Given the description of an element on the screen output the (x, y) to click on. 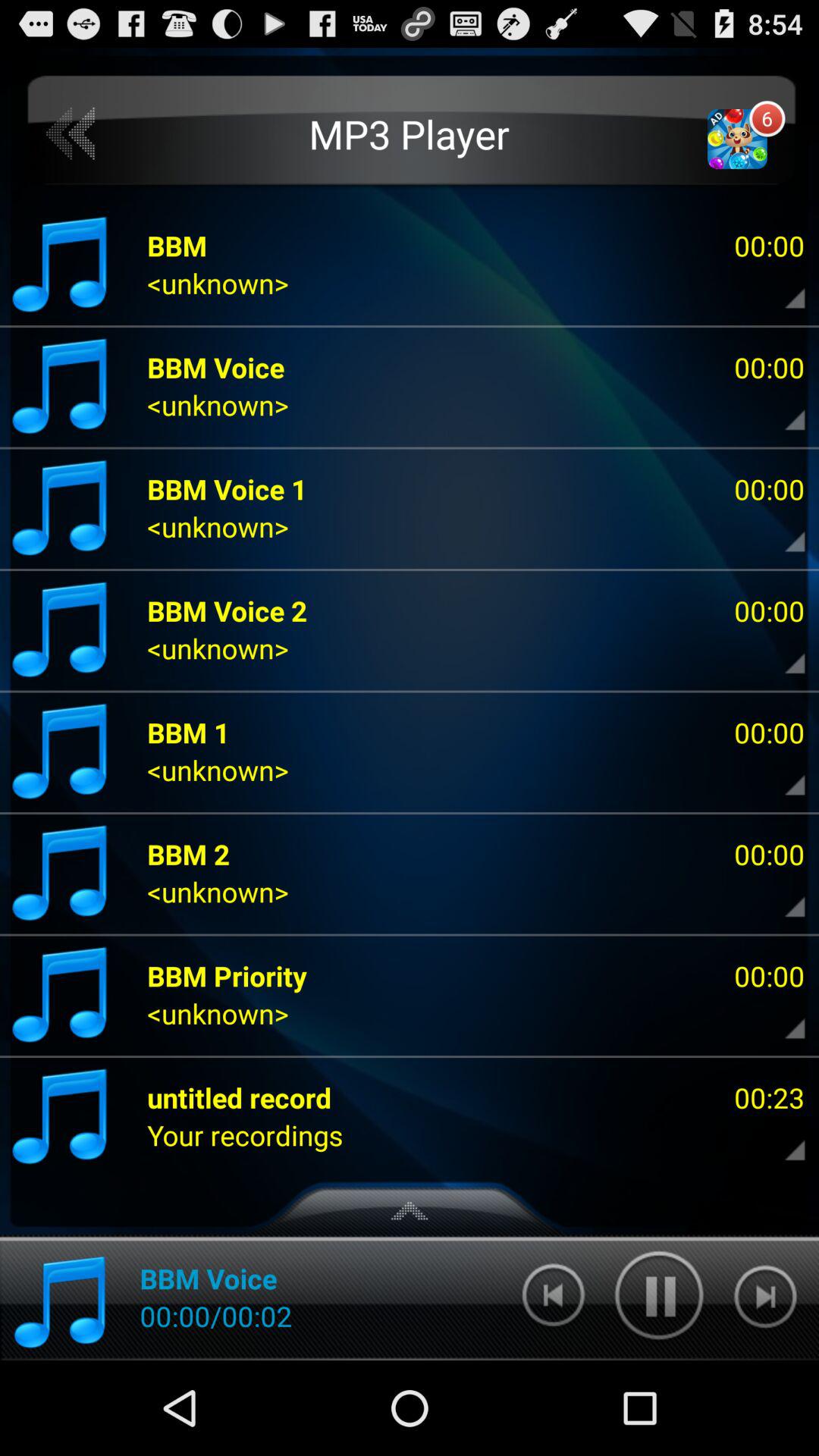
show details (782, 409)
